Given the description of an element on the screen output the (x, y) to click on. 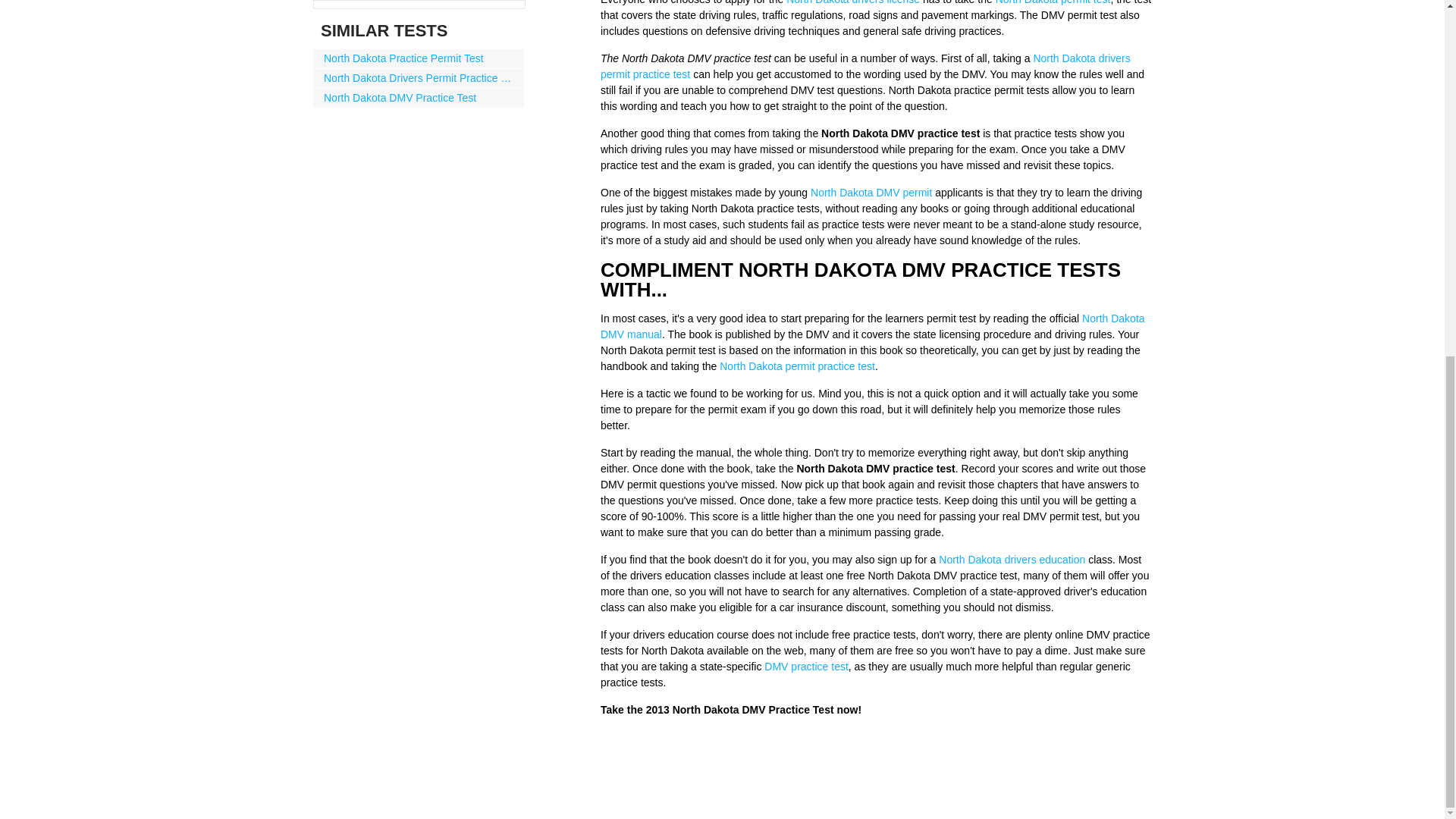
North Dakota Practice Permit Test (418, 58)
North Dakota permit test (1052, 2)
DMV Drivers Practice Test (805, 666)
North Dakota DMV manual (871, 326)
DMV practice test (805, 666)
North Dakota Permit Test (1052, 2)
North Dakota Drivers Permit Practice Test (418, 77)
North Dakota permit practice test (797, 366)
North Dakota Practice Permit Test  (418, 58)
Drivers License North Dakota (853, 2)
